Given the description of an element on the screen output the (x, y) to click on. 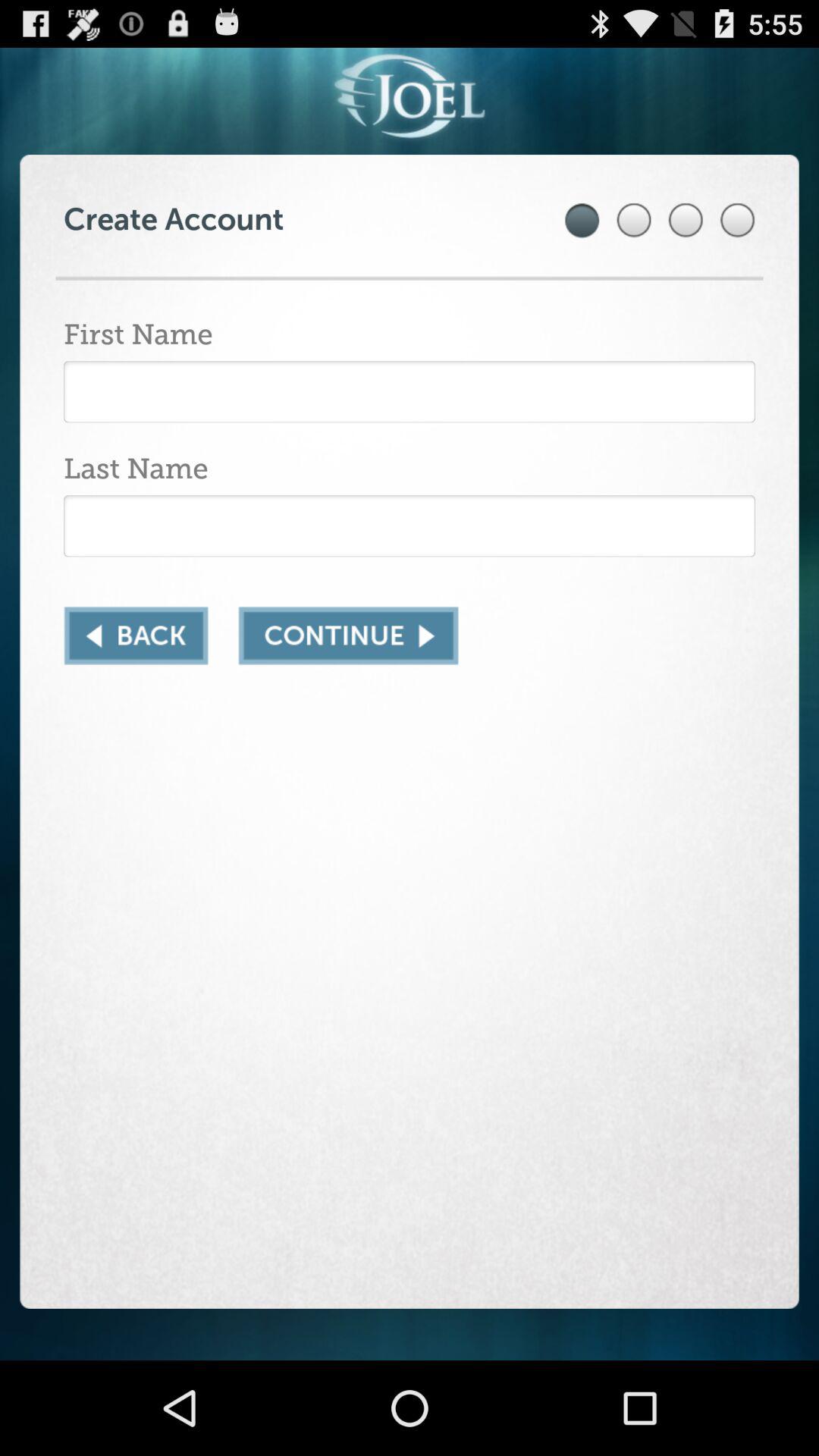
enter last name (409, 525)
